Given the description of an element on the screen output the (x, y) to click on. 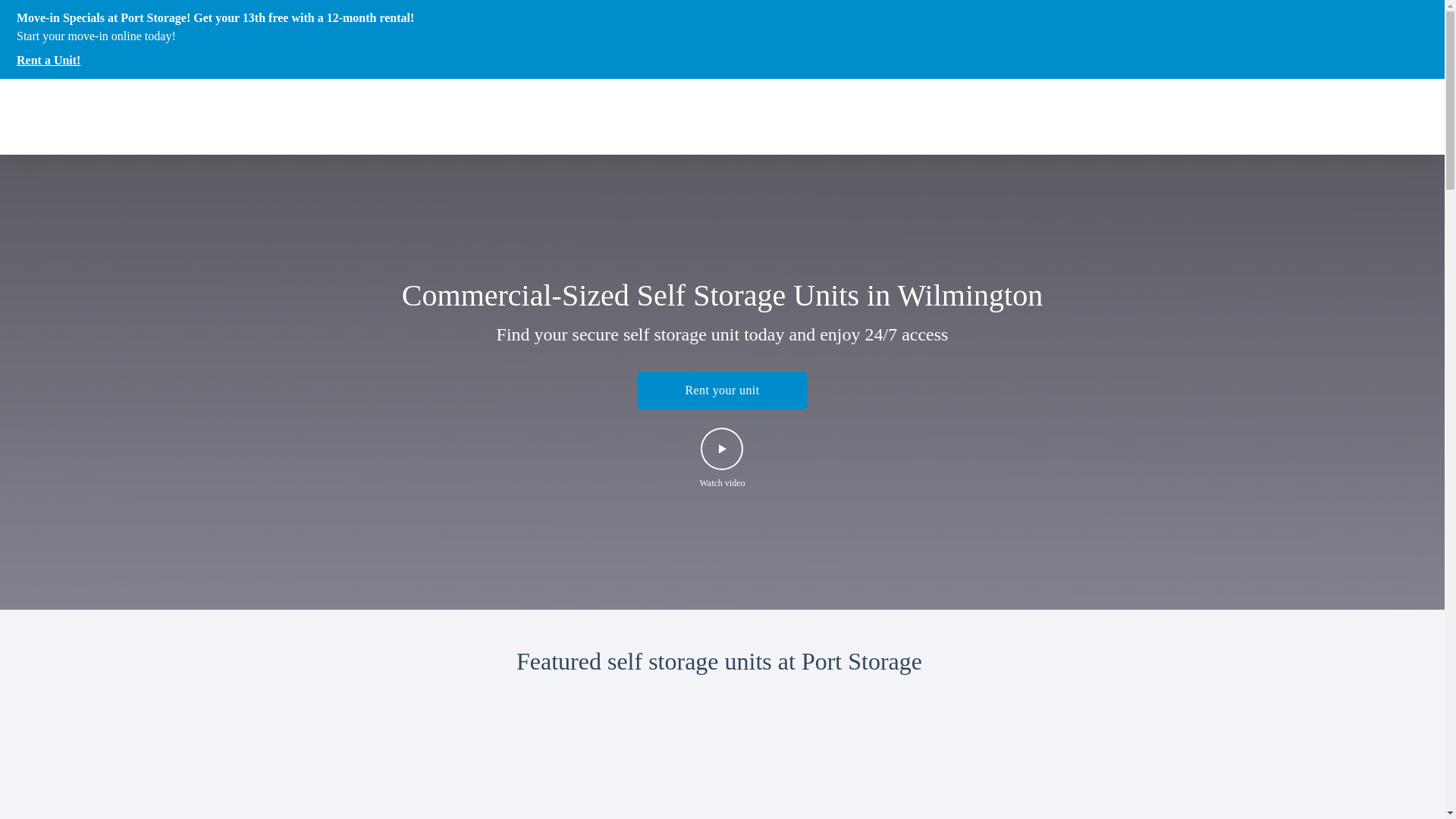
Rent your unit (722, 390)
Play IconPlay Icon Svg Image (721, 448)
Rent a Unit! (214, 60)
